Given the description of an element on the screen output the (x, y) to click on. 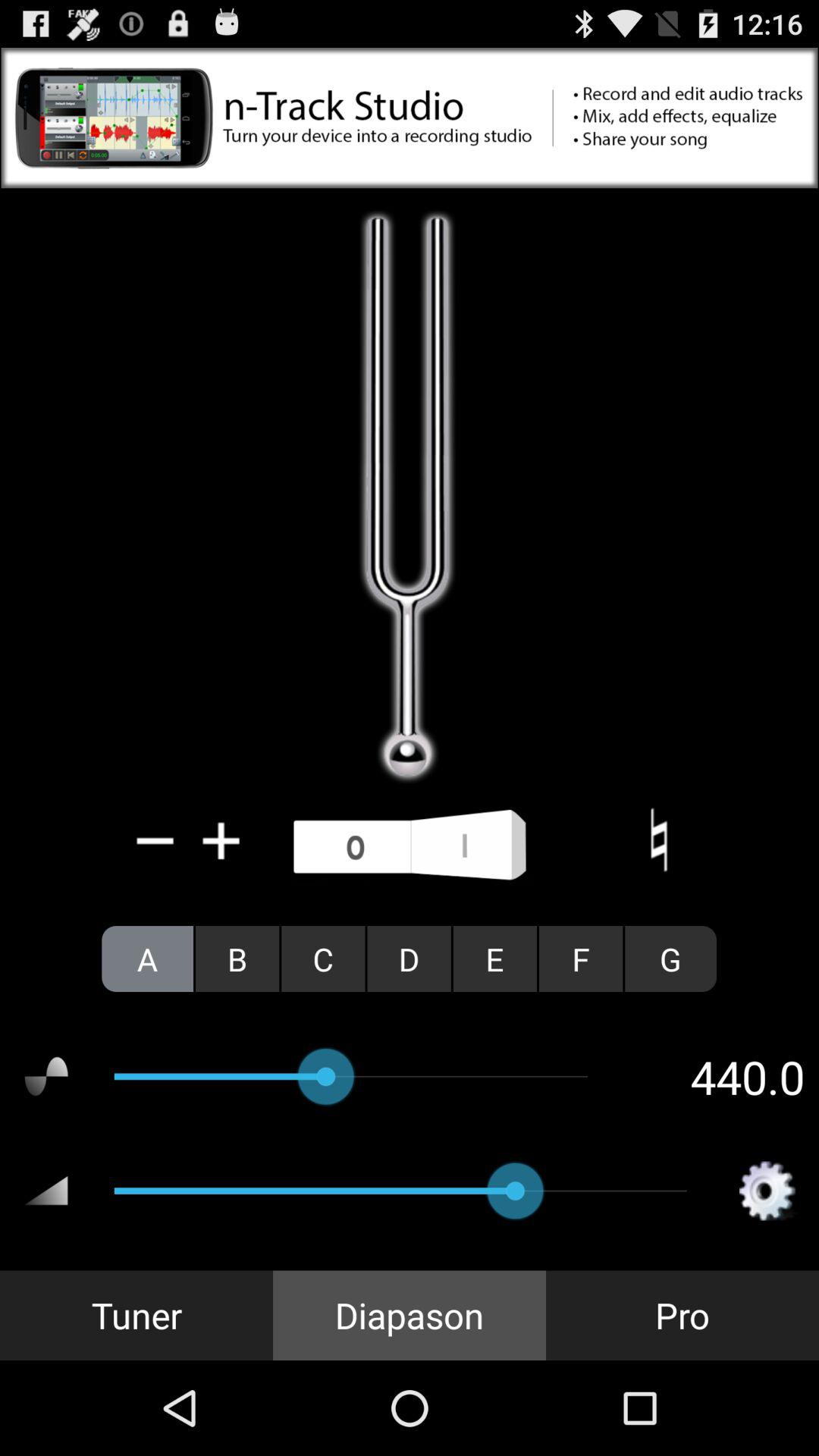
tap icon next to e (409, 958)
